Given the description of an element on the screen output the (x, y) to click on. 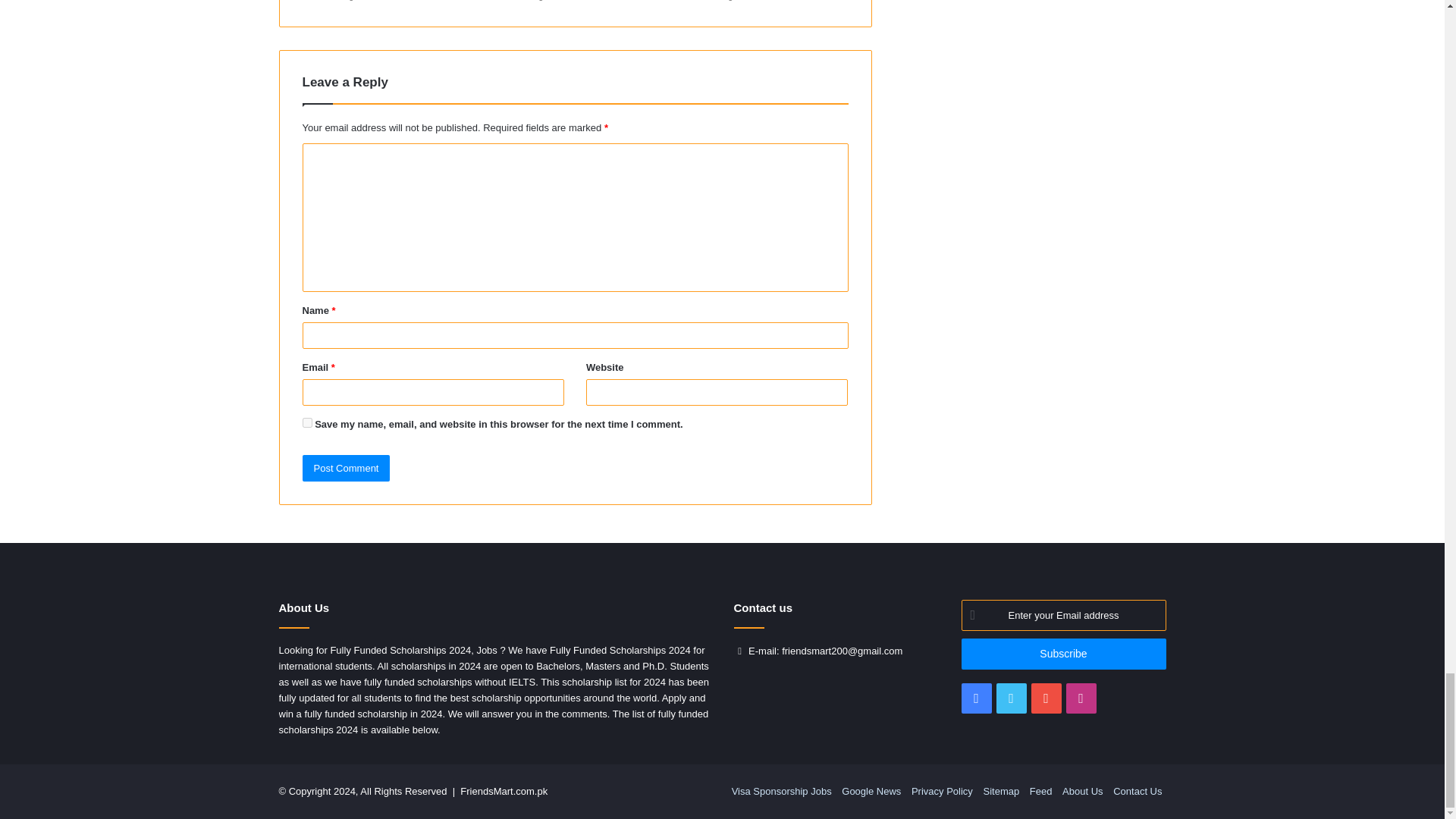
Subscribe (1063, 653)
yes (306, 422)
Post Comment (345, 468)
